Given the description of an element on the screen output the (x, y) to click on. 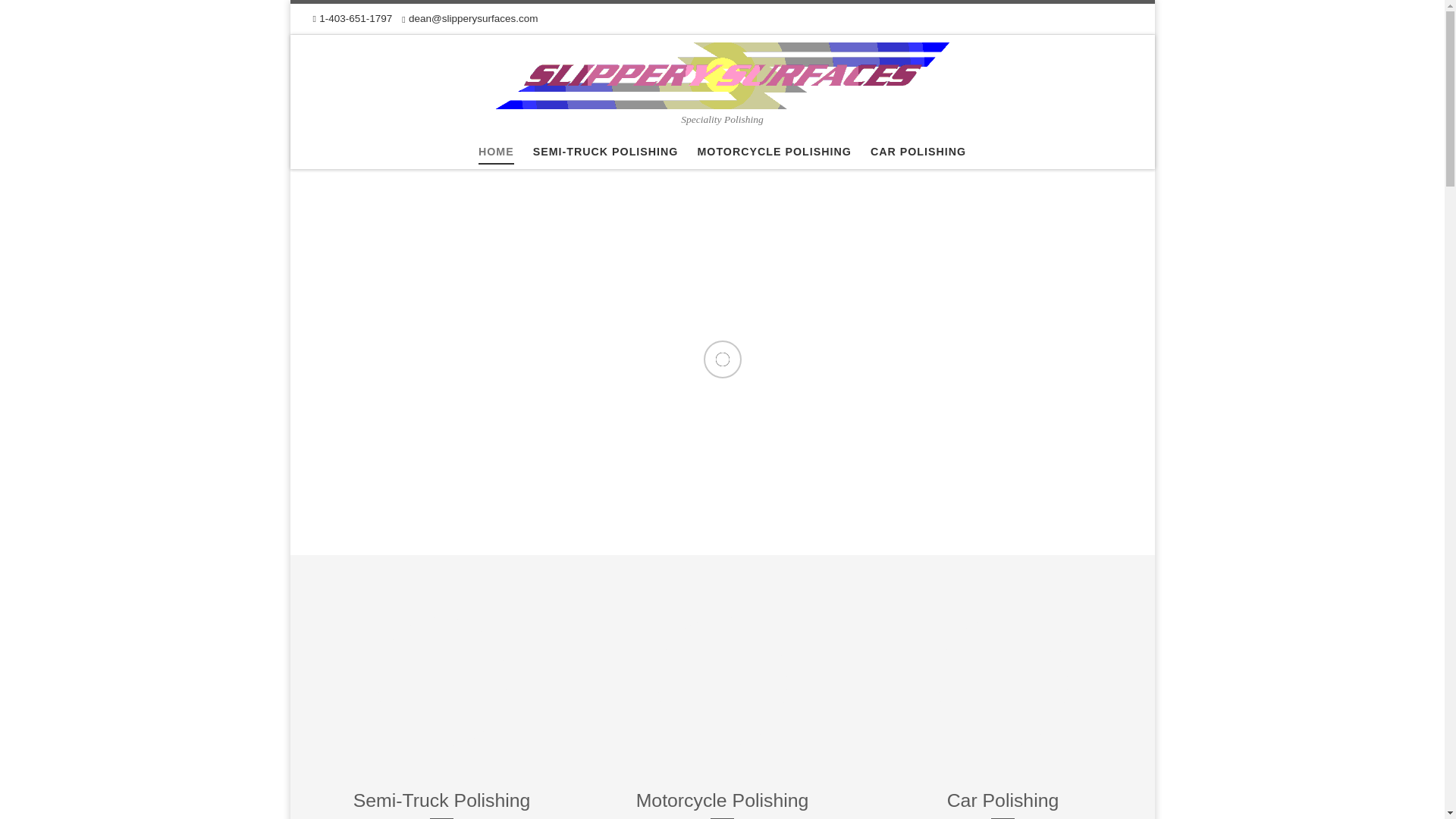
HOME (496, 151)
1-403-651-1797 (352, 18)
Car Polishing (1002, 681)
Motorcycle Polishing (722, 681)
1-403-651-1797 (352, 18)
Semi-Truck Polishing (441, 681)
SEMI-TRUCK POLISHING (604, 151)
MOTORCYCLE POLISHING (774, 151)
CAR POLISHING (918, 151)
